Given the description of an element on the screen output the (x, y) to click on. 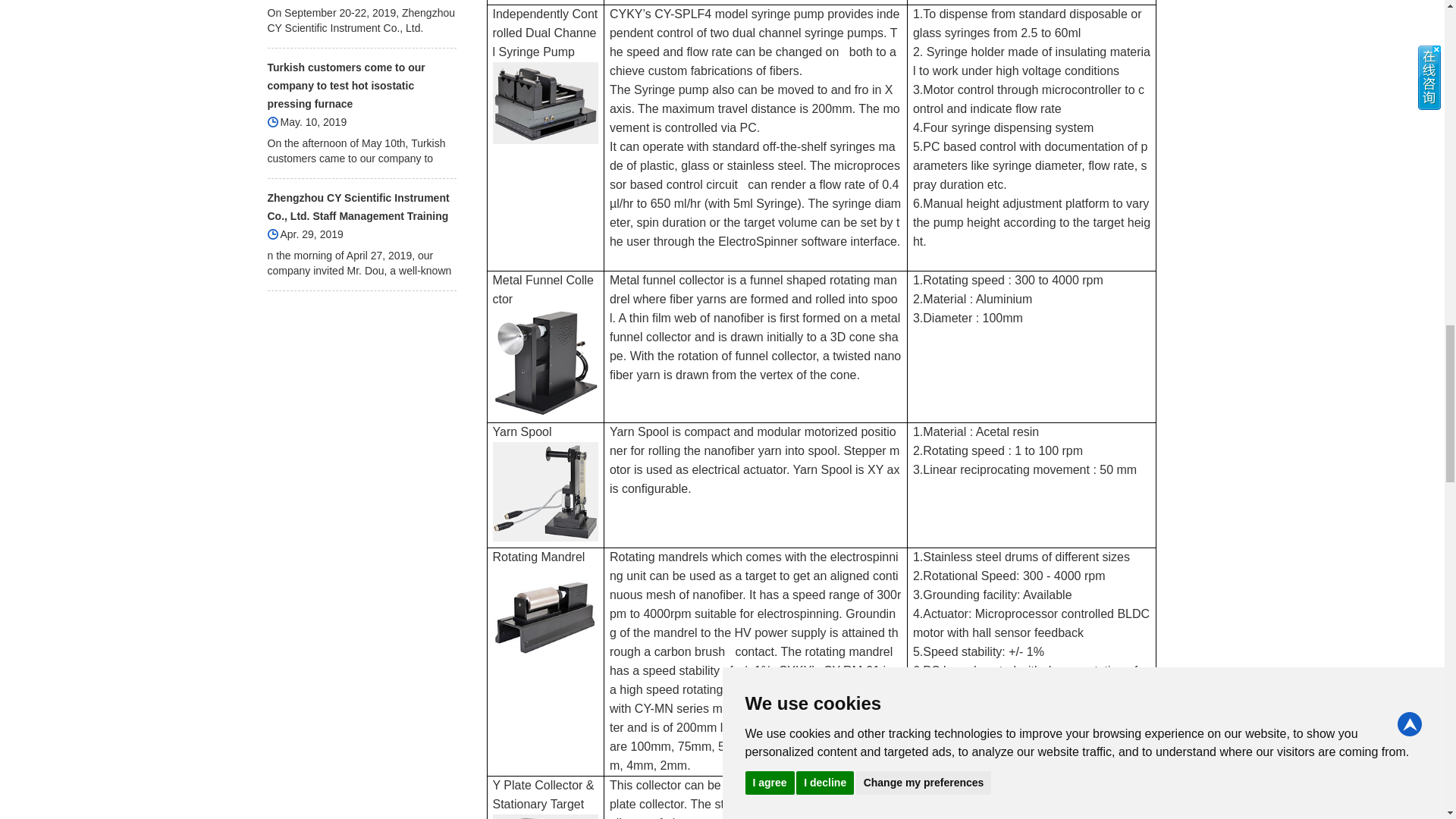
image.png (545, 816)
image.png (545, 362)
image.png (545, 492)
image.png (545, 614)
image.png (545, 103)
